Given the description of an element on the screen output the (x, y) to click on. 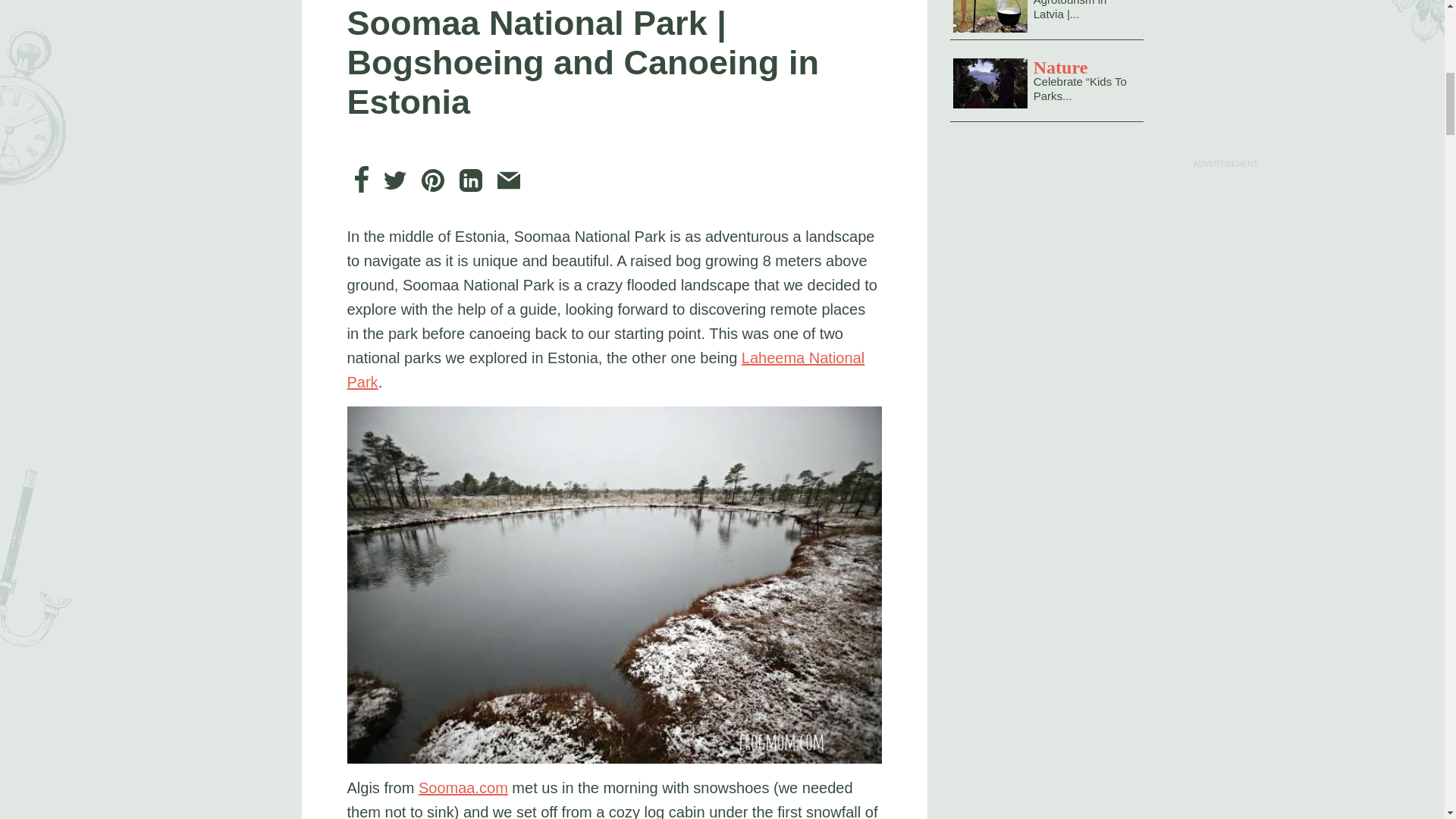
Email to (508, 178)
